Given the description of an element on the screen output the (x, y) to click on. 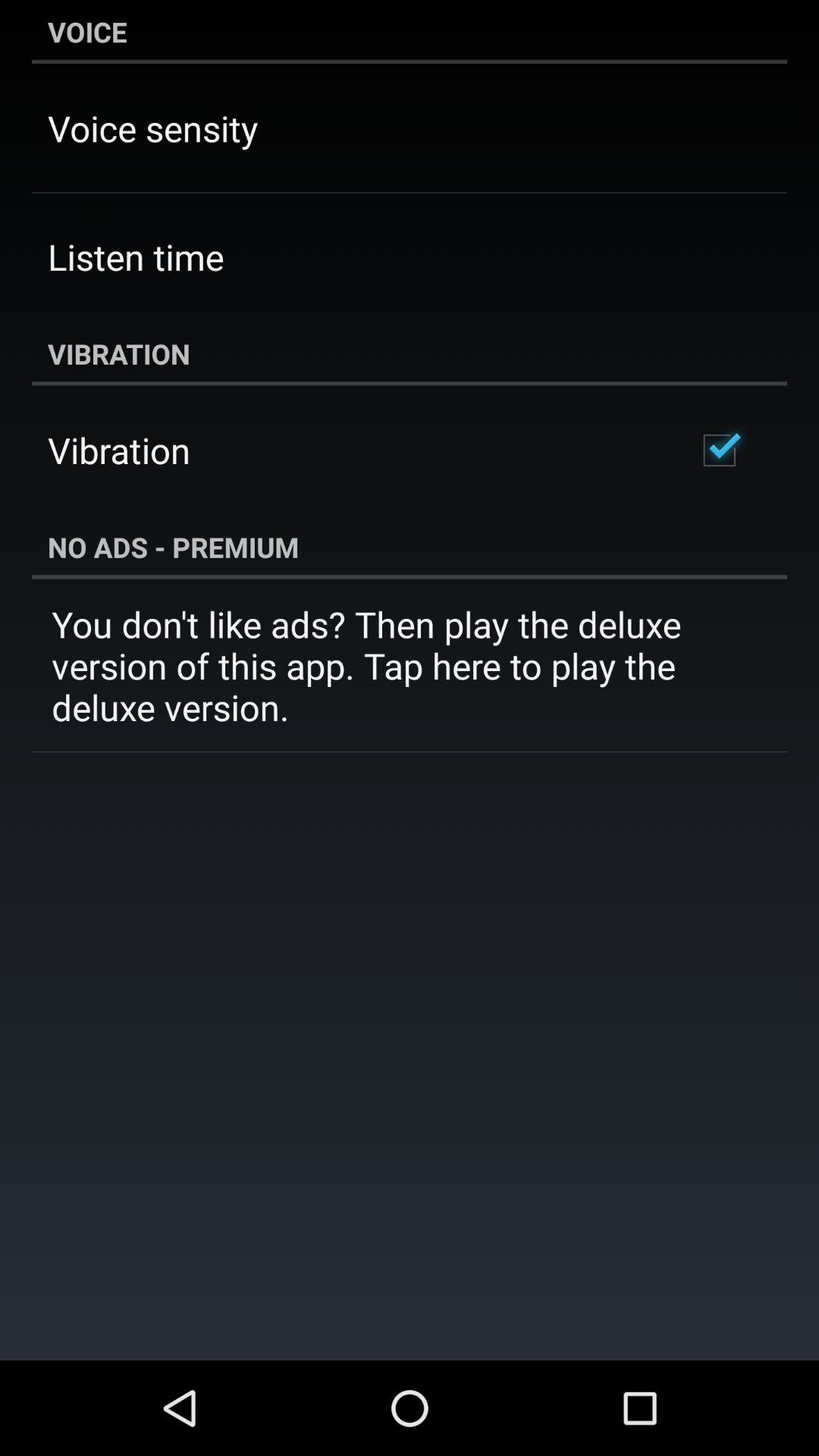
tap item below the voice sensity icon (135, 256)
